Given the description of an element on the screen output the (x, y) to click on. 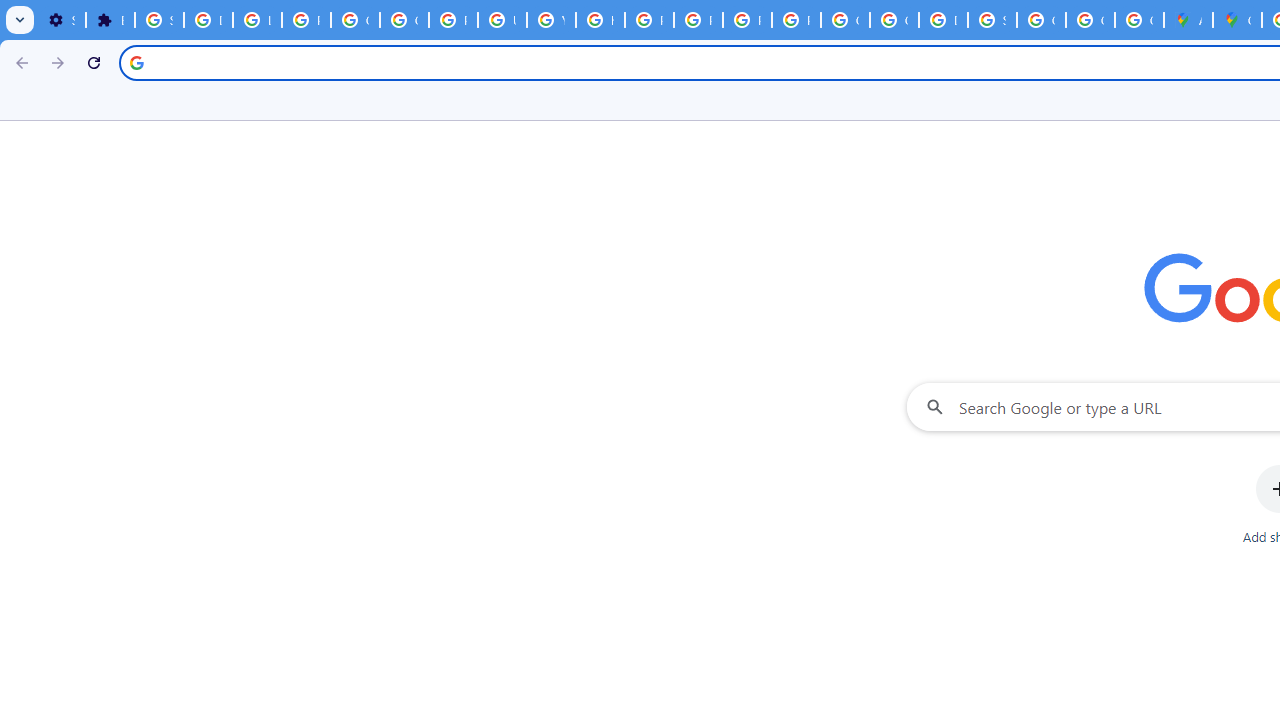
YouTube (551, 20)
Sign in - Google Accounts (159, 20)
Settings - On startup (61, 20)
Privacy Help Center - Policies Help (649, 20)
Sign in - Google Accounts (992, 20)
Learn how to find your photos - Google Photos Help (257, 20)
